Given the description of an element on the screen output the (x, y) to click on. 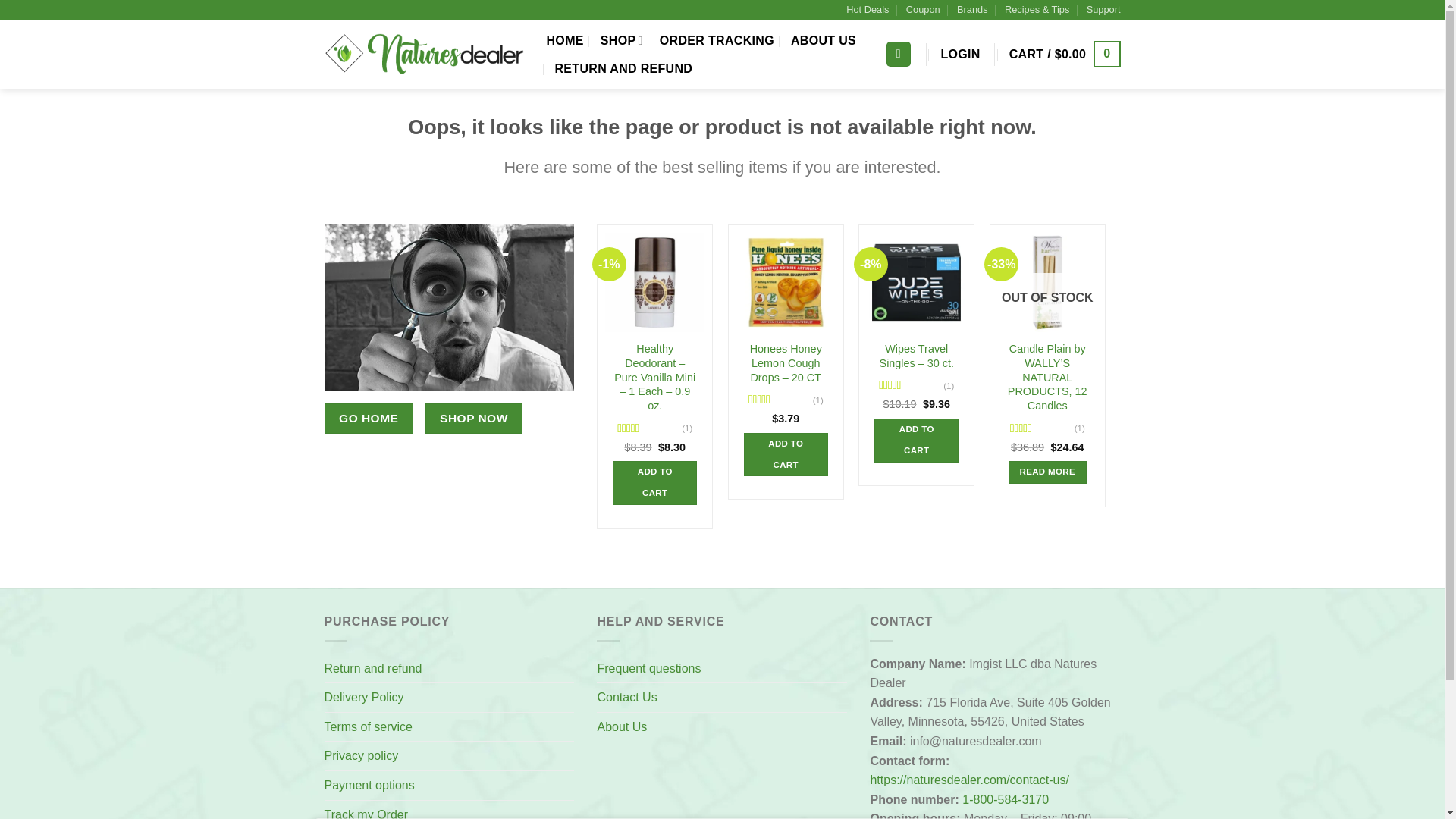
Support (1103, 9)
Login (959, 53)
Cart (1065, 53)
SHOP (621, 40)
Brands (972, 9)
Hot Deals (866, 9)
HOME (564, 40)
Coupon (922, 9)
